Given the description of an element on the screen output the (x, y) to click on. 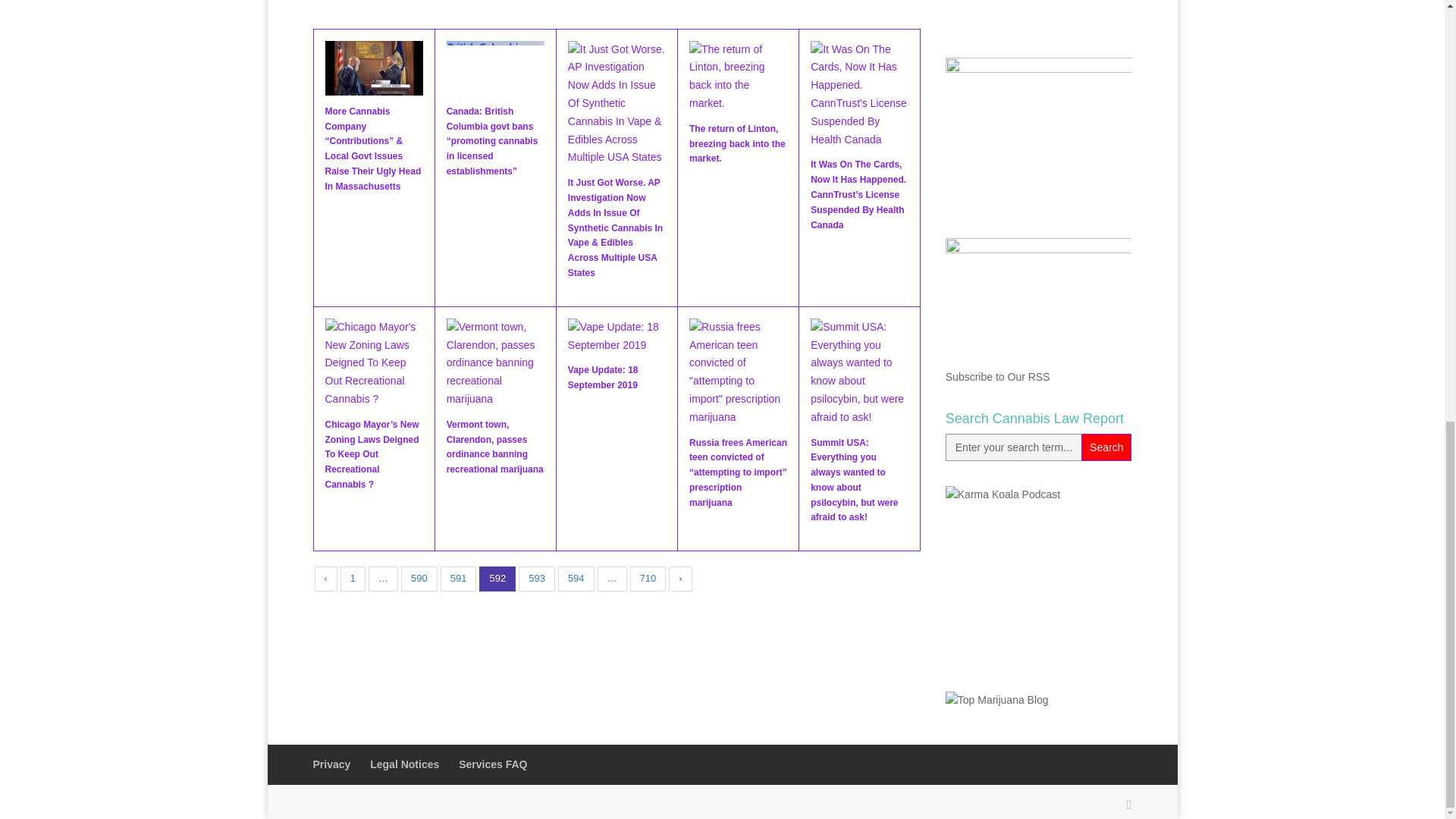
Search (1106, 447)
Search (1106, 447)
